Given the description of an element on the screen output the (x, y) to click on. 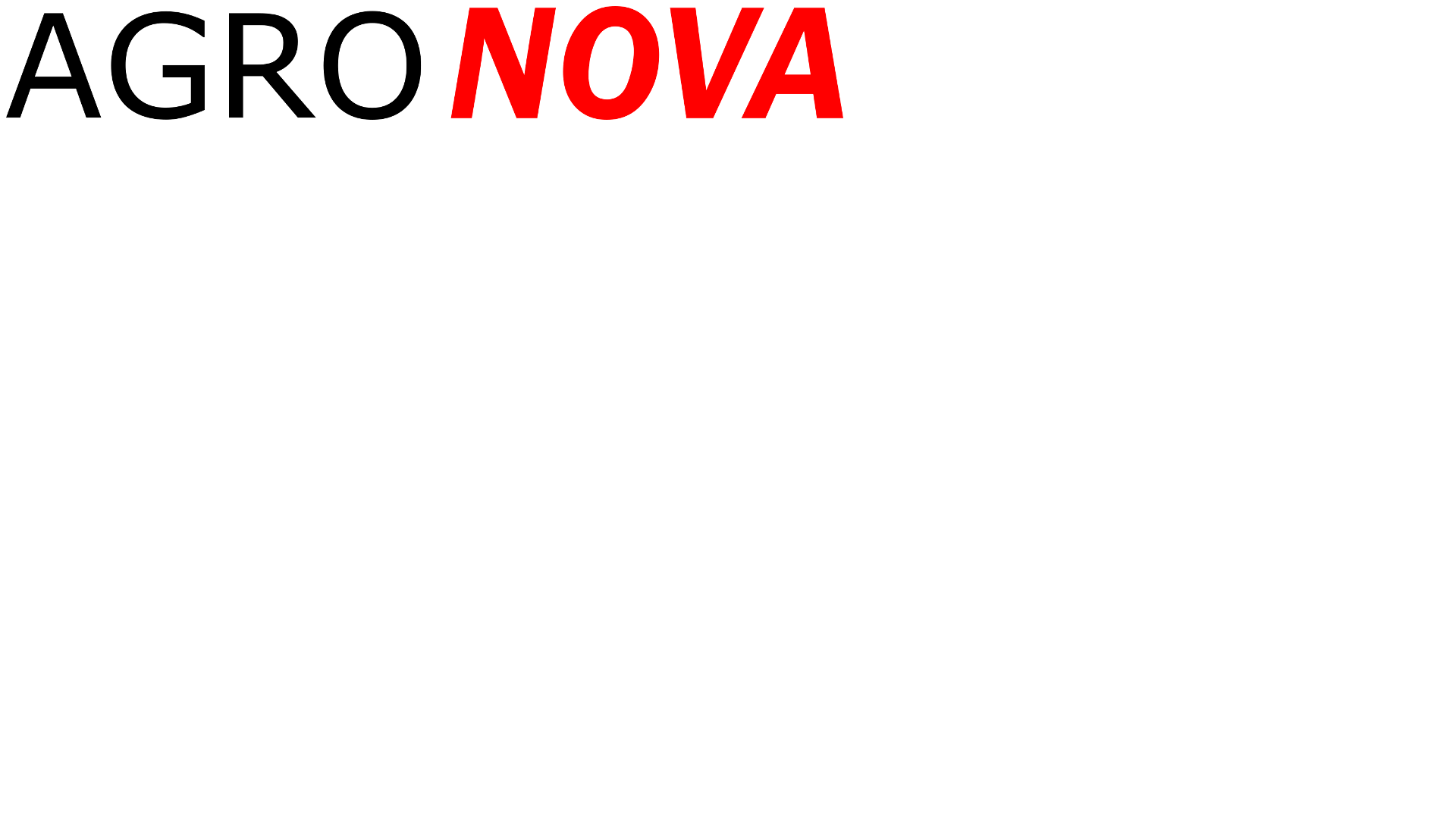
Agronova Element type: hover (424, 115)
